Given the description of an element on the screen output the (x, y) to click on. 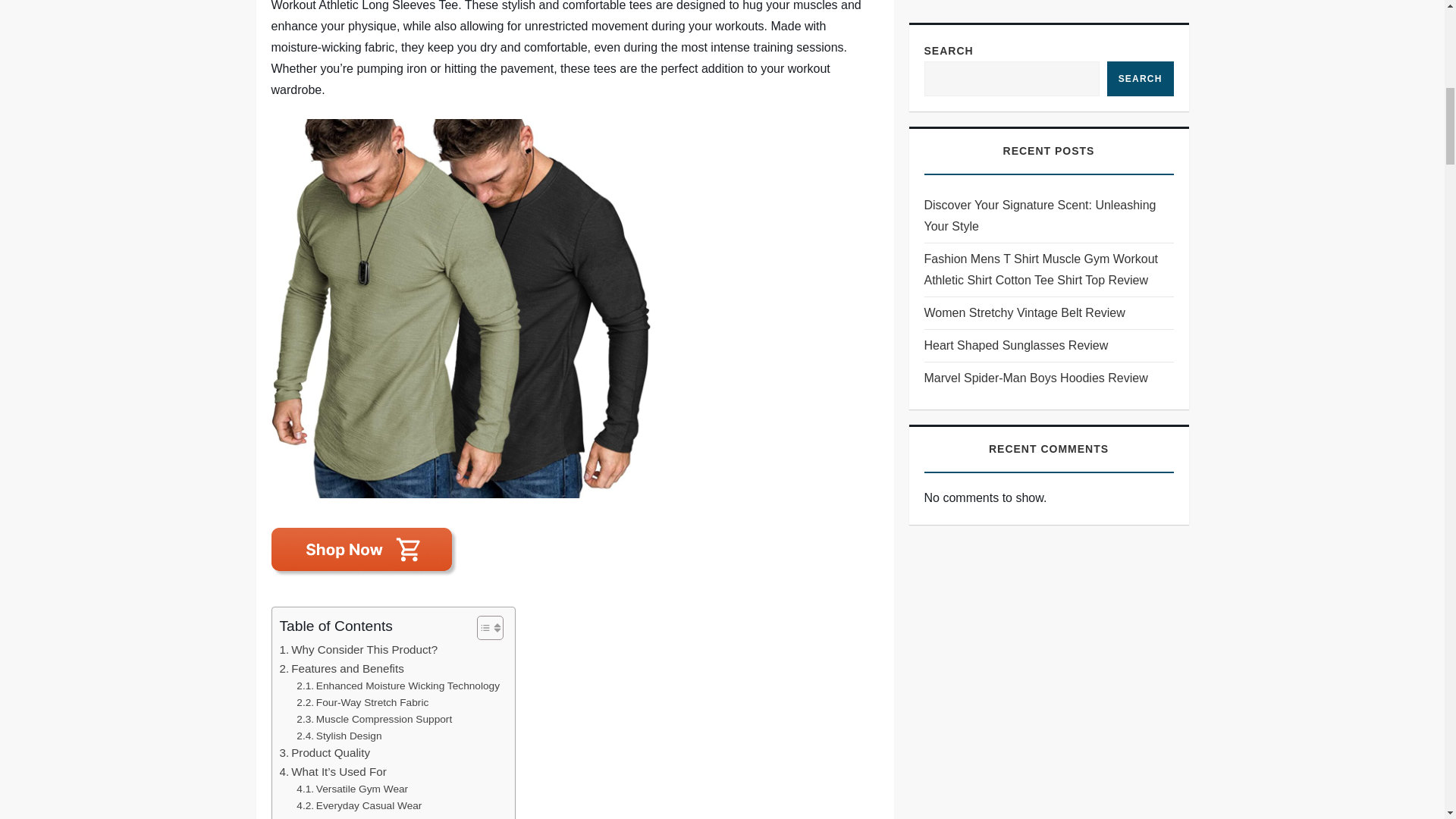
Product Quality (324, 752)
Stylish Design (339, 736)
Muscle Compression Support (374, 719)
Why Consider This Product? (358, 649)
Why Consider This Product? (358, 649)
Features and Benefits (341, 669)
Muscle Compression Support (374, 719)
Everyday Casual Wear (359, 805)
Four-Way Stretch Fabric (362, 702)
